Given the description of an element on the screen output the (x, y) to click on. 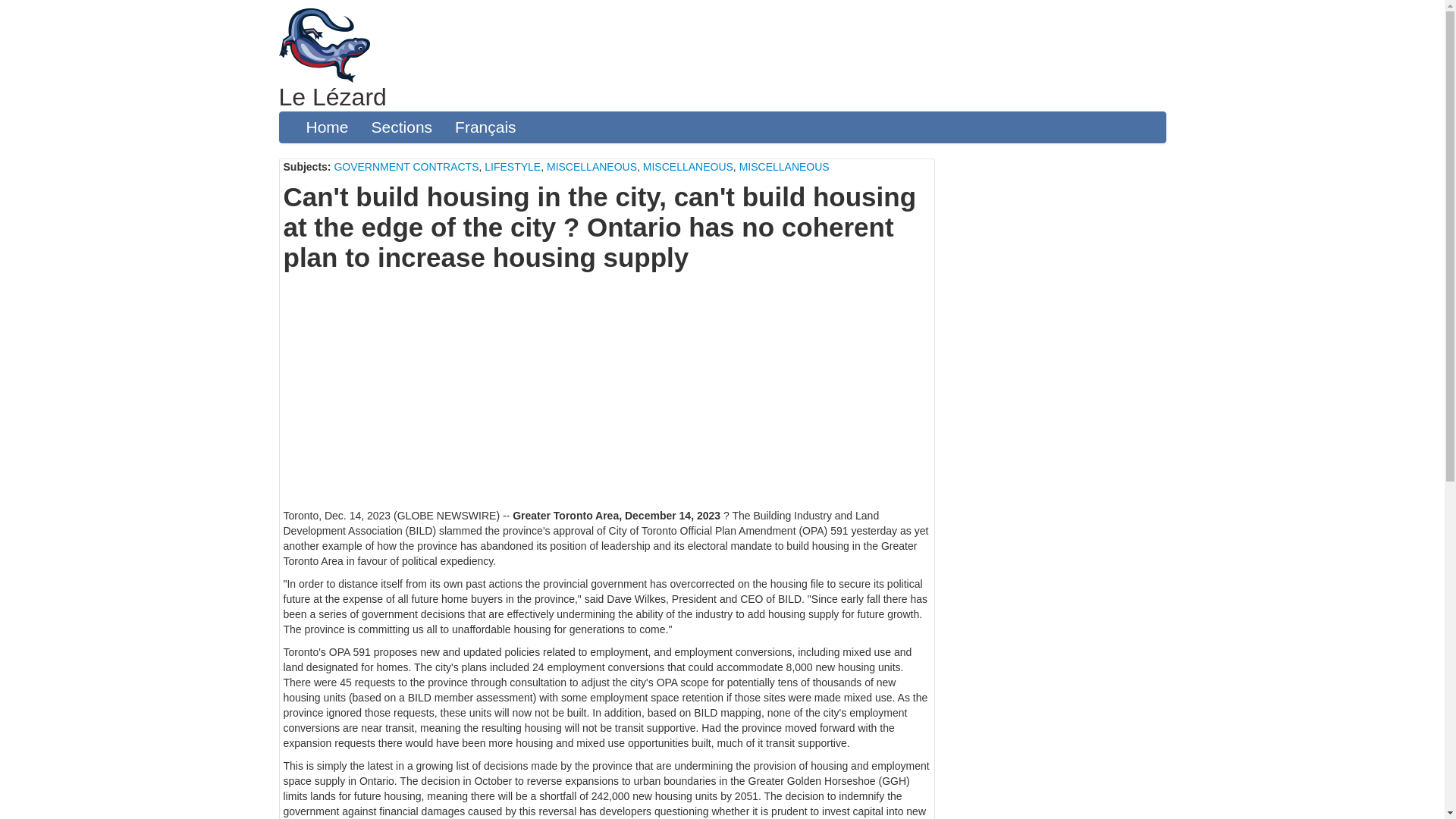
MISCELLANEOUS (592, 166)
Home (326, 127)
LIFESTYLE (512, 166)
GOVERNMENT CONTRACTS (406, 166)
MISCELLANEOUS (784, 166)
MISCELLANEOUS (688, 166)
Sections (401, 127)
